Given the description of an element on the screen output the (x, y) to click on. 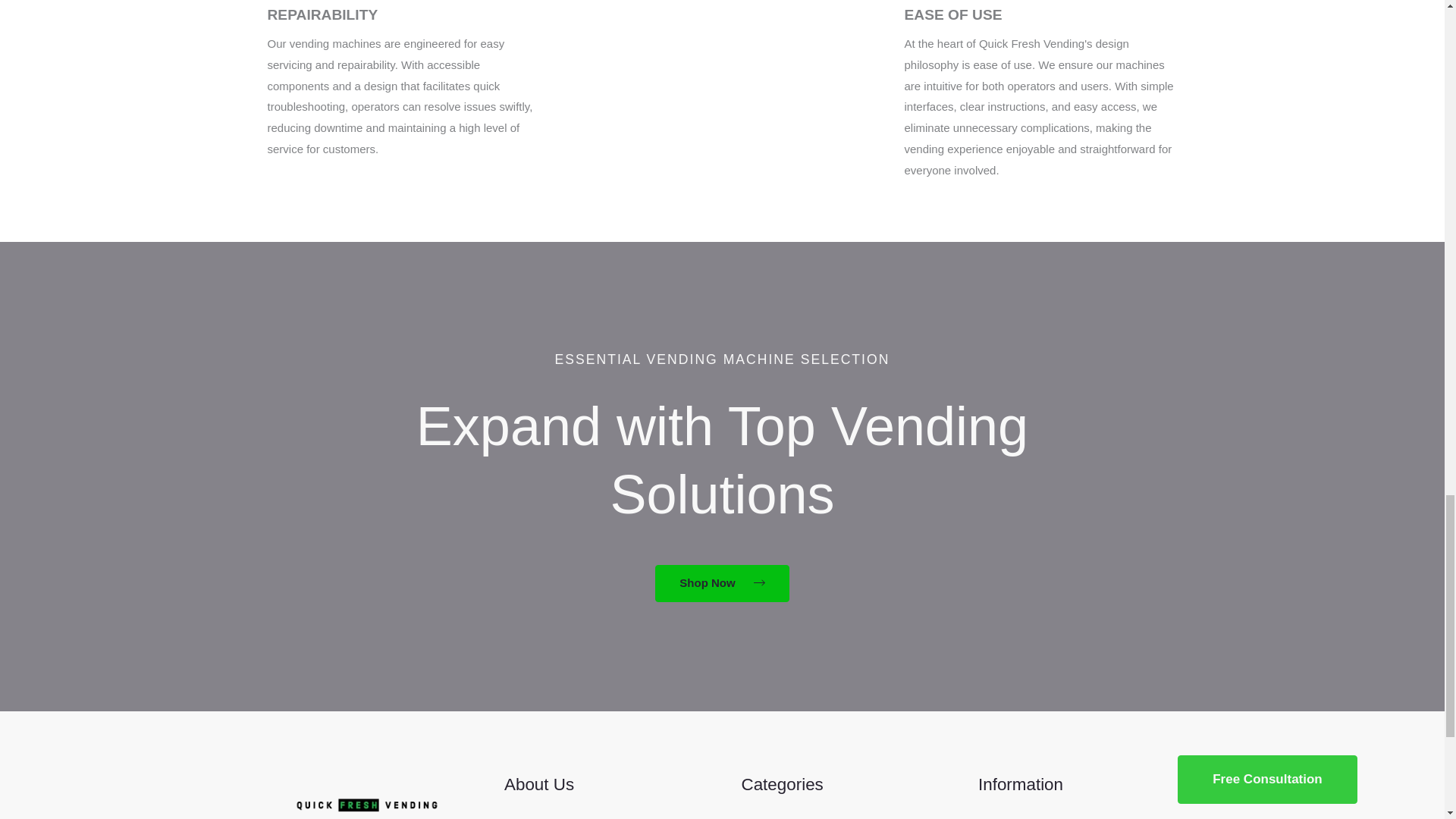
Shop Now (722, 583)
